Given the description of an element on the screen output the (x, y) to click on. 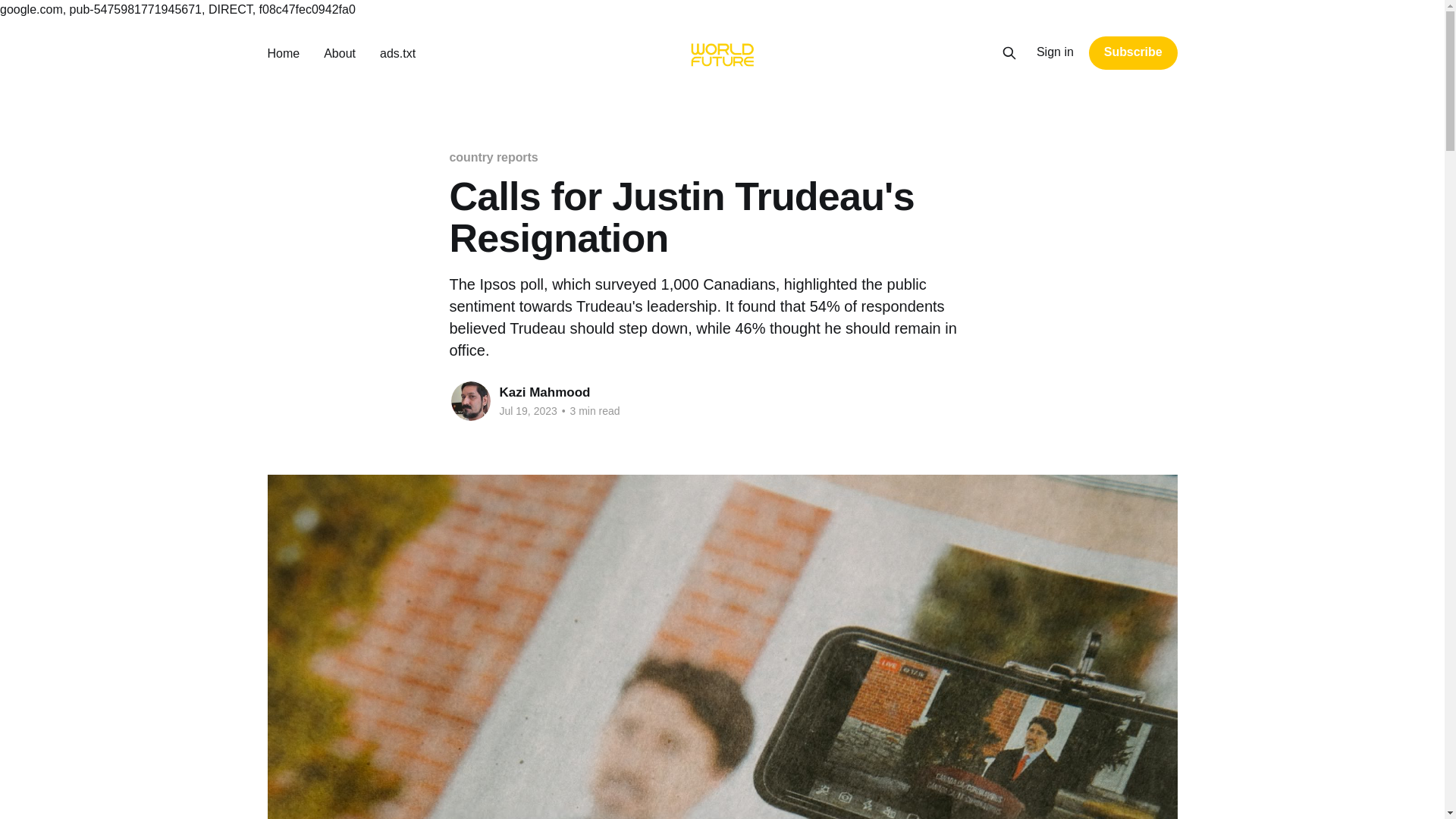
country reports (492, 156)
Home (282, 52)
Subscribe (1133, 52)
Sign in (1055, 52)
Kazi Mahmood (544, 391)
ads.txt (397, 52)
About (339, 52)
